Given the description of an element on the screen output the (x, y) to click on. 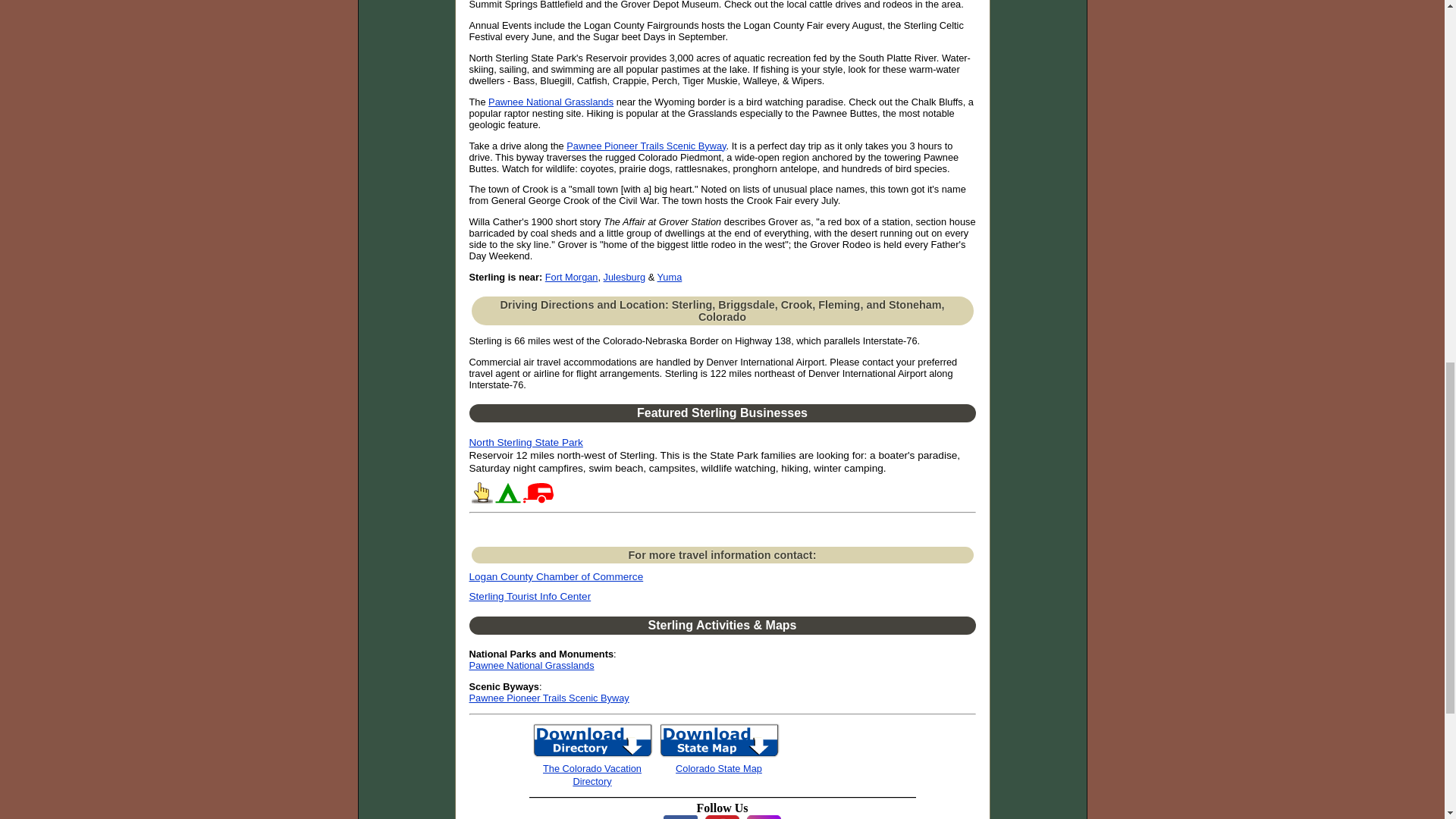
Pawnee Pioneer Trails Scenic Byway (645, 145)
Colorado State Map (718, 767)
Pawnee National Grasslands (549, 101)
Download The Colorado Vacation Directory (592, 774)
Download The Colorado Vacation Directory (592, 755)
Pawnee Pioneer Trails Scenic Byway (548, 697)
Pawnee National Grasslands (531, 665)
Download Colorado State Map (718, 767)
Logan County Chamber of Commerce (555, 576)
Sterling Tourist Info Center (529, 595)
The Colorado Vacation Directory (592, 774)
Yuma (670, 276)
Julesburg (625, 276)
North Sterling State Park (525, 441)
Download Colorado State Map (718, 755)
